Given the description of an element on the screen output the (x, y) to click on. 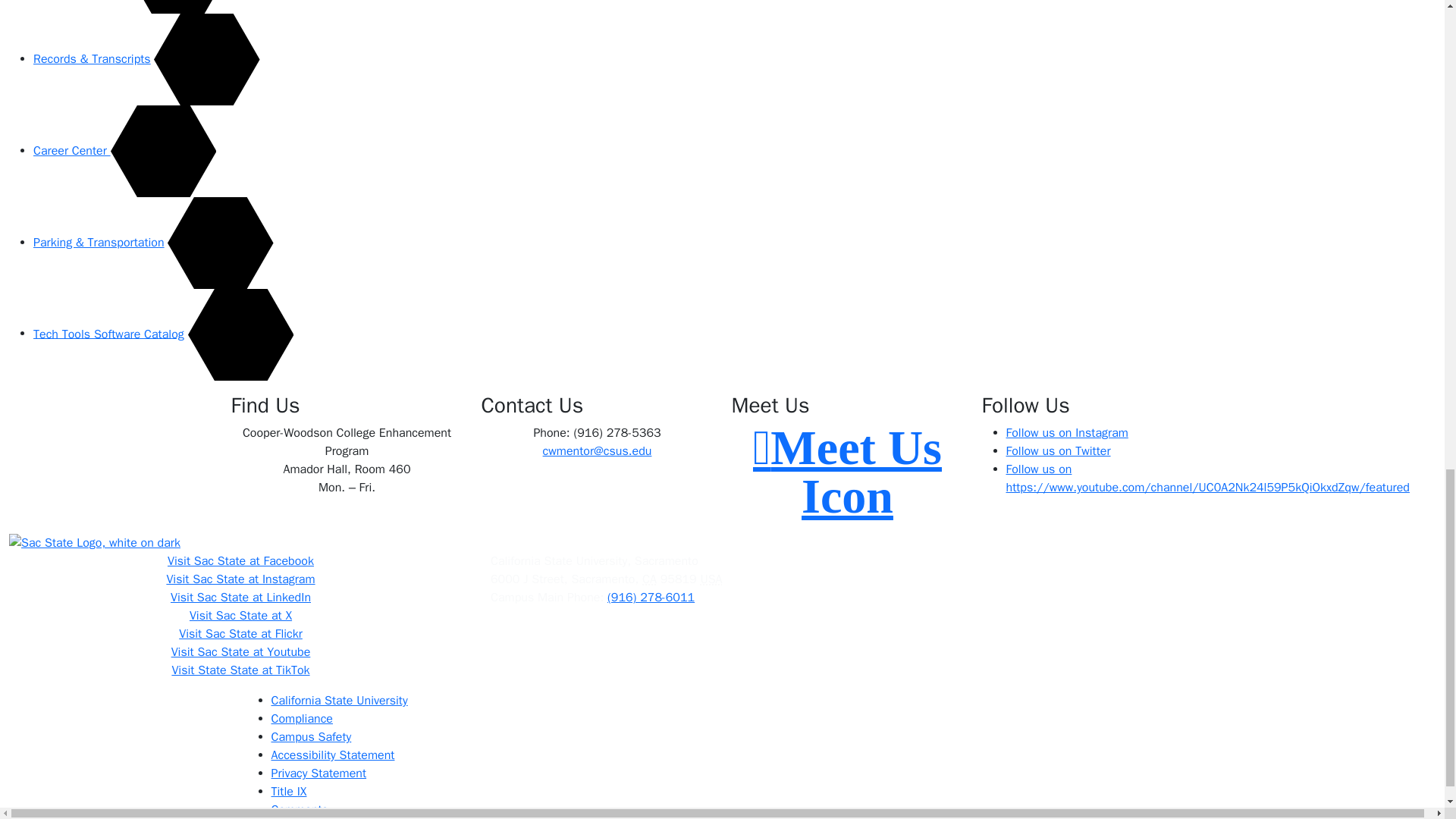
California (649, 579)
Click logo to return to Sac State Home Page (722, 542)
United States (711, 579)
